Given the description of an element on the screen output the (x, y) to click on. 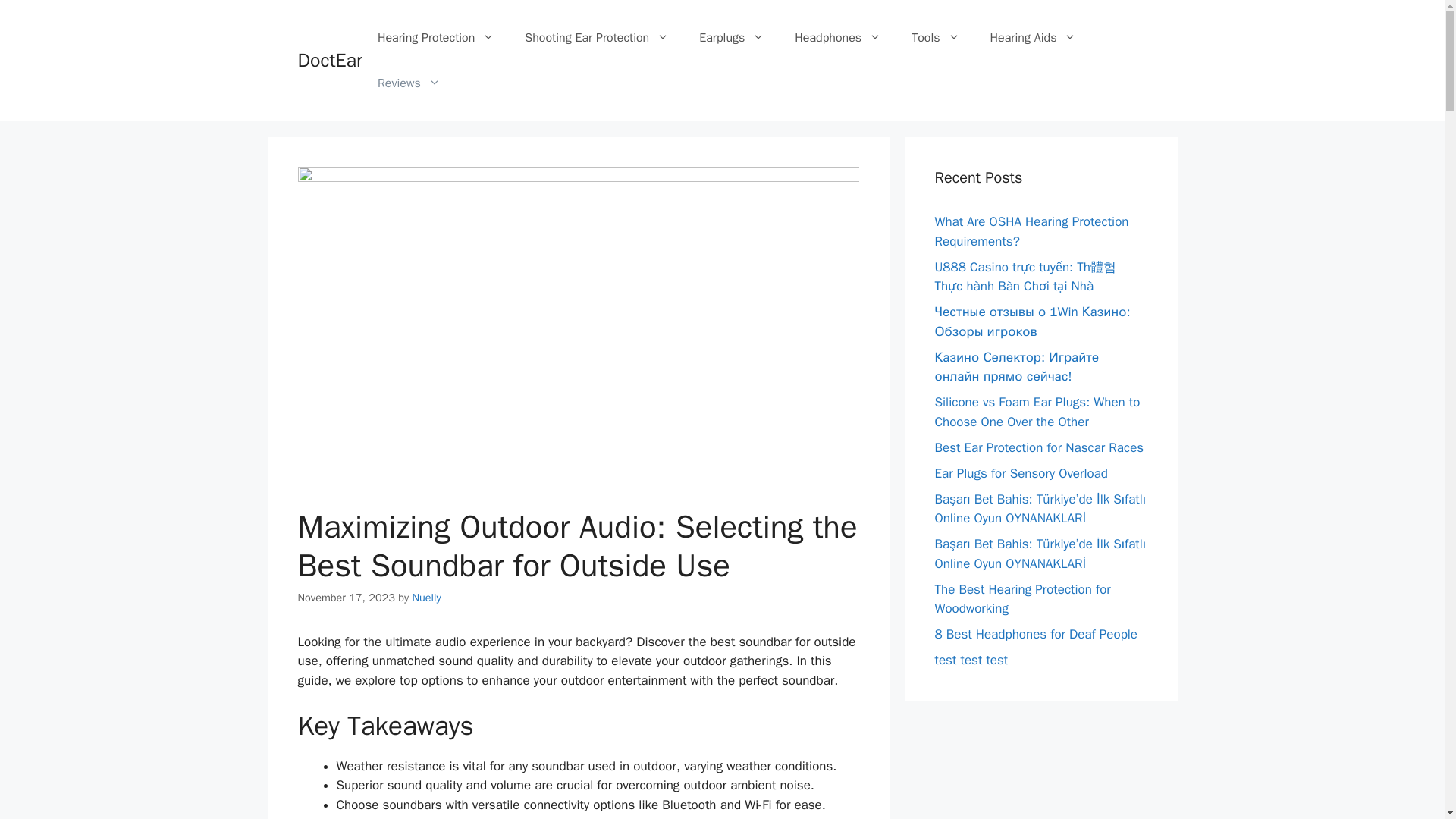
Hearing Aids (1033, 37)
Headphones (837, 37)
Shooting Ear Protection (596, 37)
Earplugs (731, 37)
DoctEar (329, 60)
View all posts by Nuelly (426, 597)
Tools (935, 37)
Hearing Protection (435, 37)
